Given the description of an element on the screen output the (x, y) to click on. 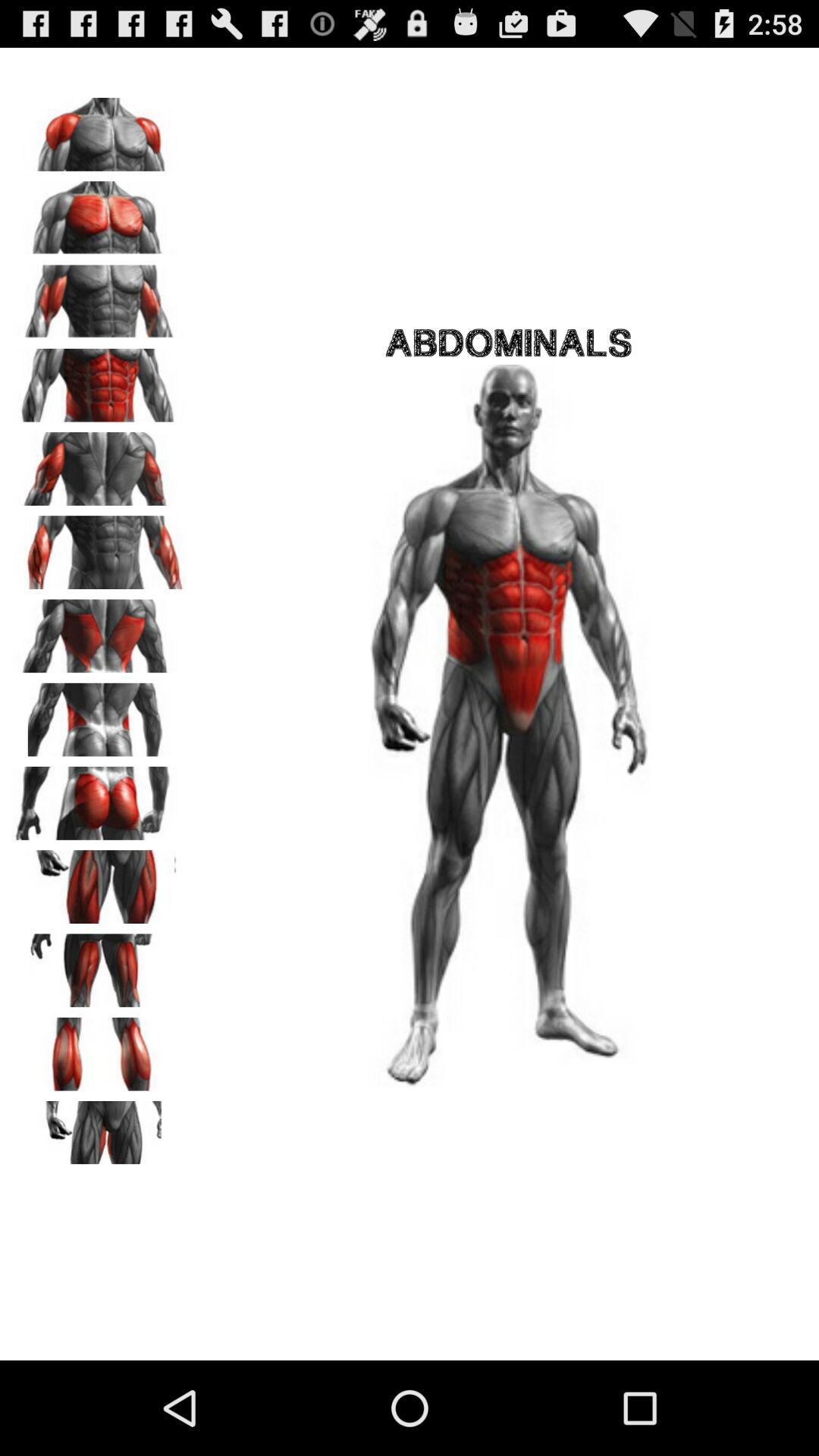
muscle group information (99, 881)
